Given the description of an element on the screen output the (x, y) to click on. 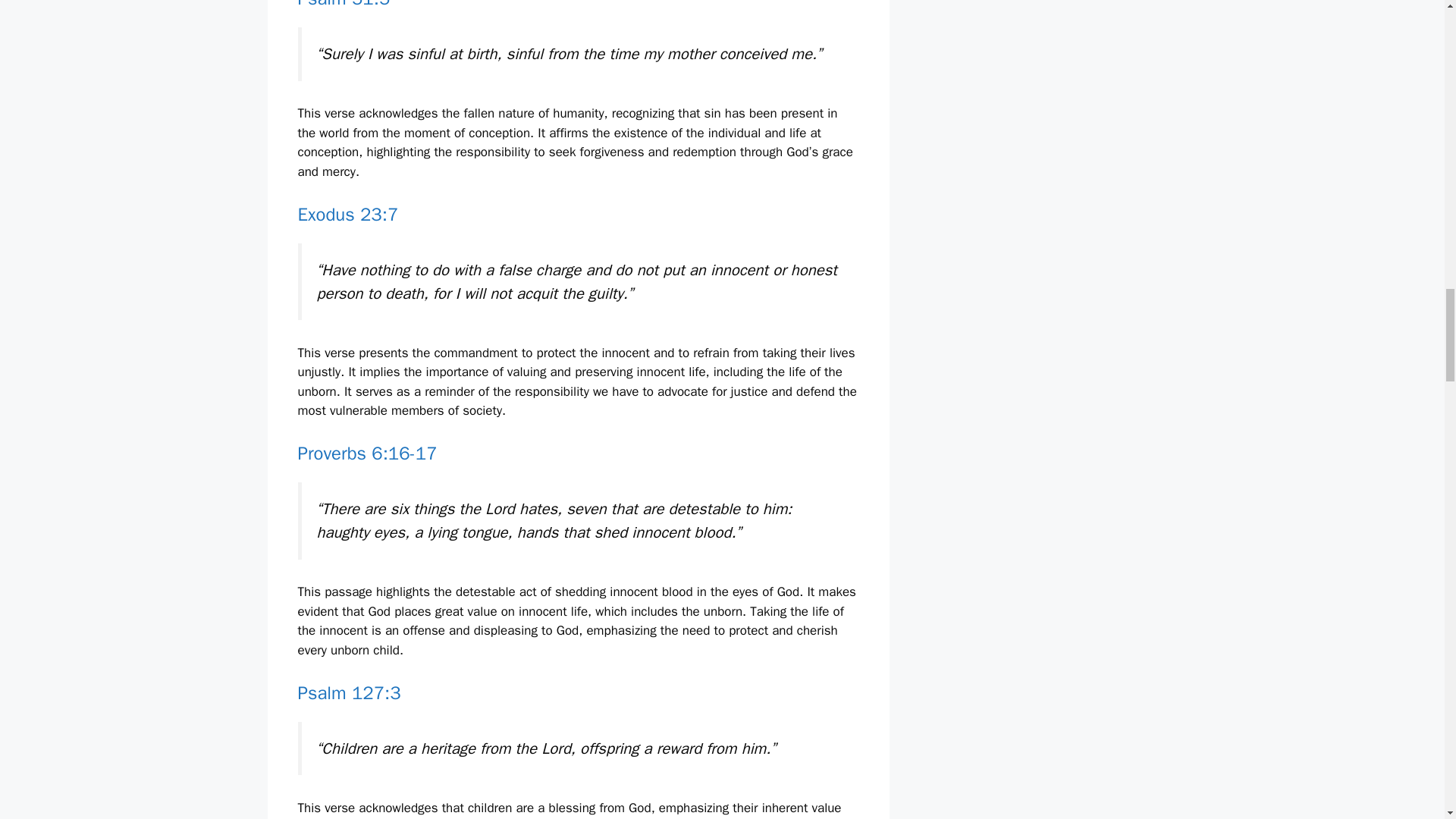
Psalm 127:3 (348, 692)
Psalm 51:5 (343, 4)
Proverbs 6:16-17 (366, 453)
Exodus 23:7 (347, 214)
